Given the description of an element on the screen output the (x, y) to click on. 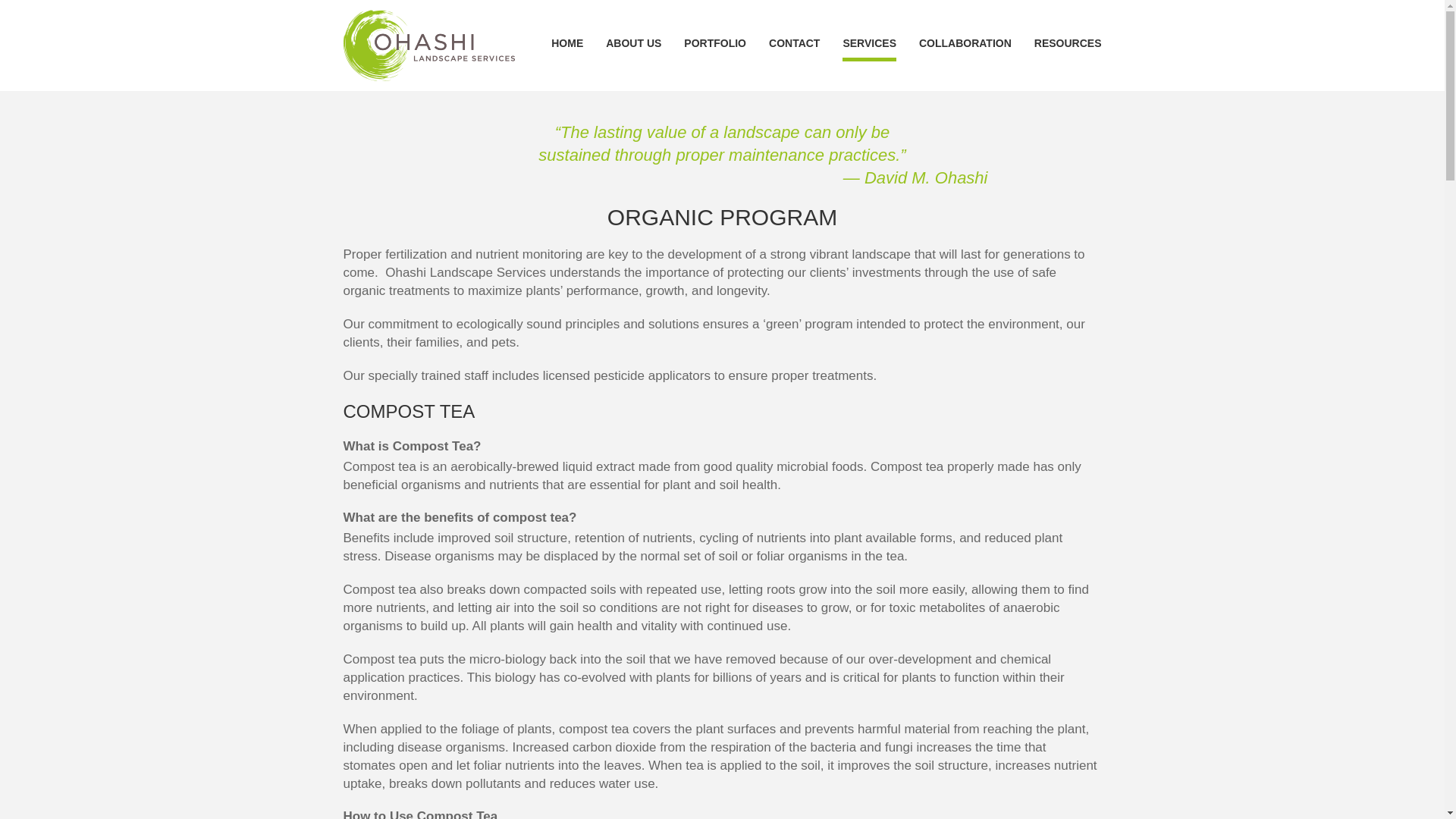
PORTFOLIO (714, 48)
RESOURCES (1067, 48)
SERVICES (869, 48)
COLLABORATION (964, 48)
ABOUT US (633, 48)
CONTACT (793, 48)
HOME (567, 48)
